Given the description of an element on the screen output the (x, y) to click on. 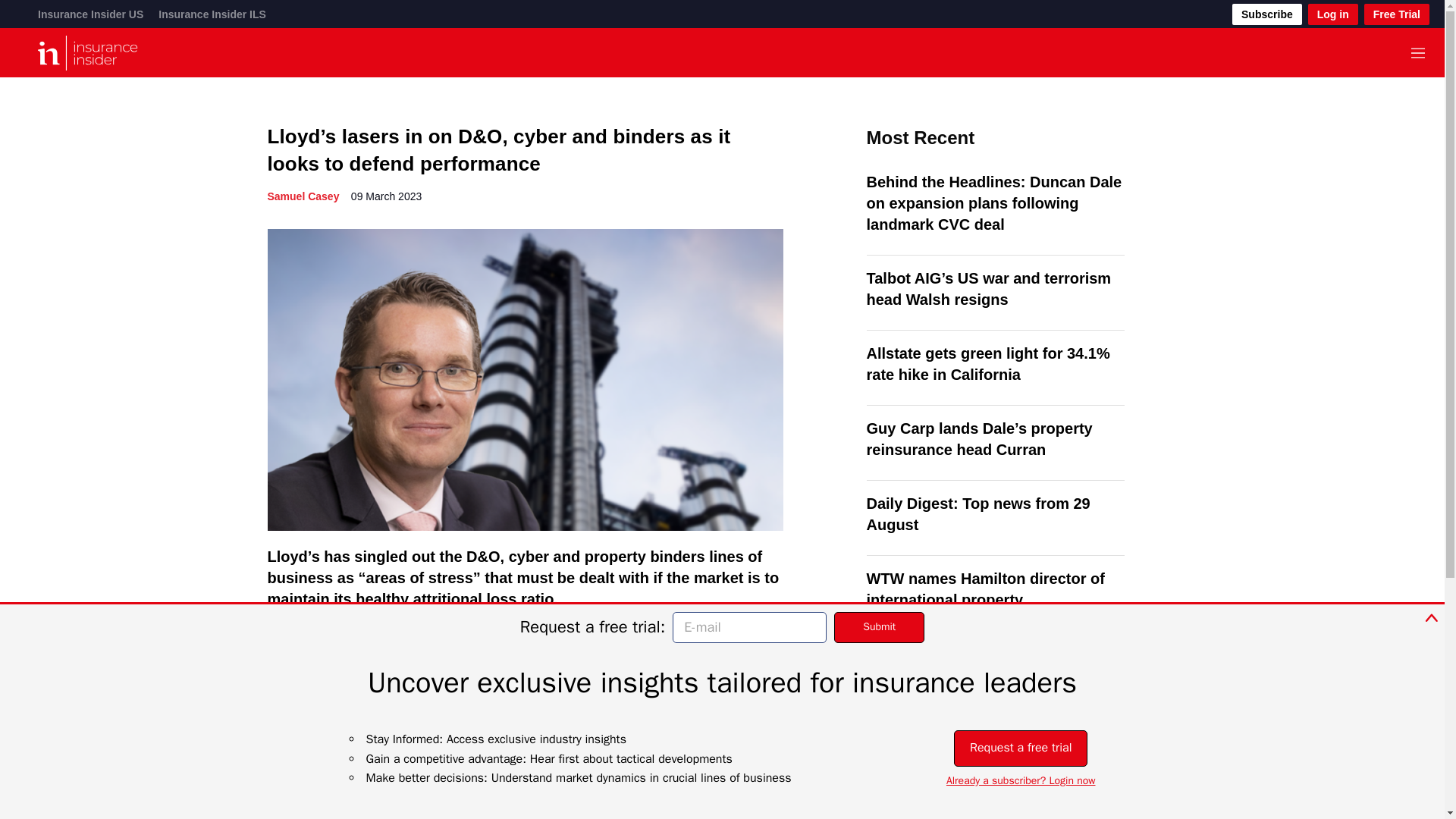
Subscribe (1266, 13)
Submit (879, 626)
Free Trial (1396, 13)
Log in (1332, 13)
Insurance Insider US (89, 13)
Insurance Insider ILS (212, 13)
